Given the description of an element on the screen output the (x, y) to click on. 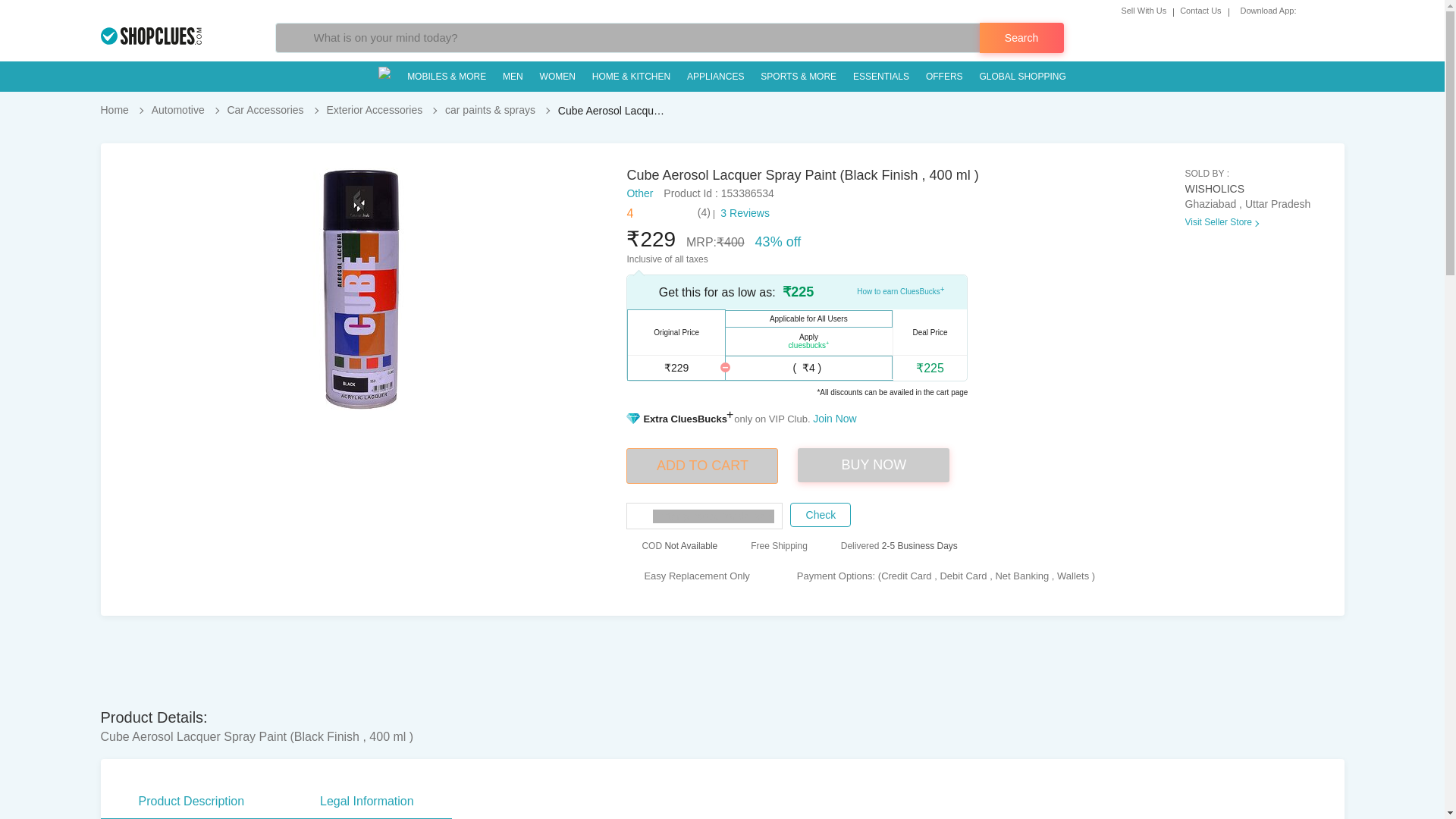
Contact Us (1203, 10)
Windows App Store (1338, 9)
Search (1021, 37)
Android App Store (1306, 9)
Apple App Store (1322, 9)
Check (820, 514)
Sell With Us (1147, 10)
Shopclues online shopping (150, 36)
